Given the description of an element on the screen output the (x, y) to click on. 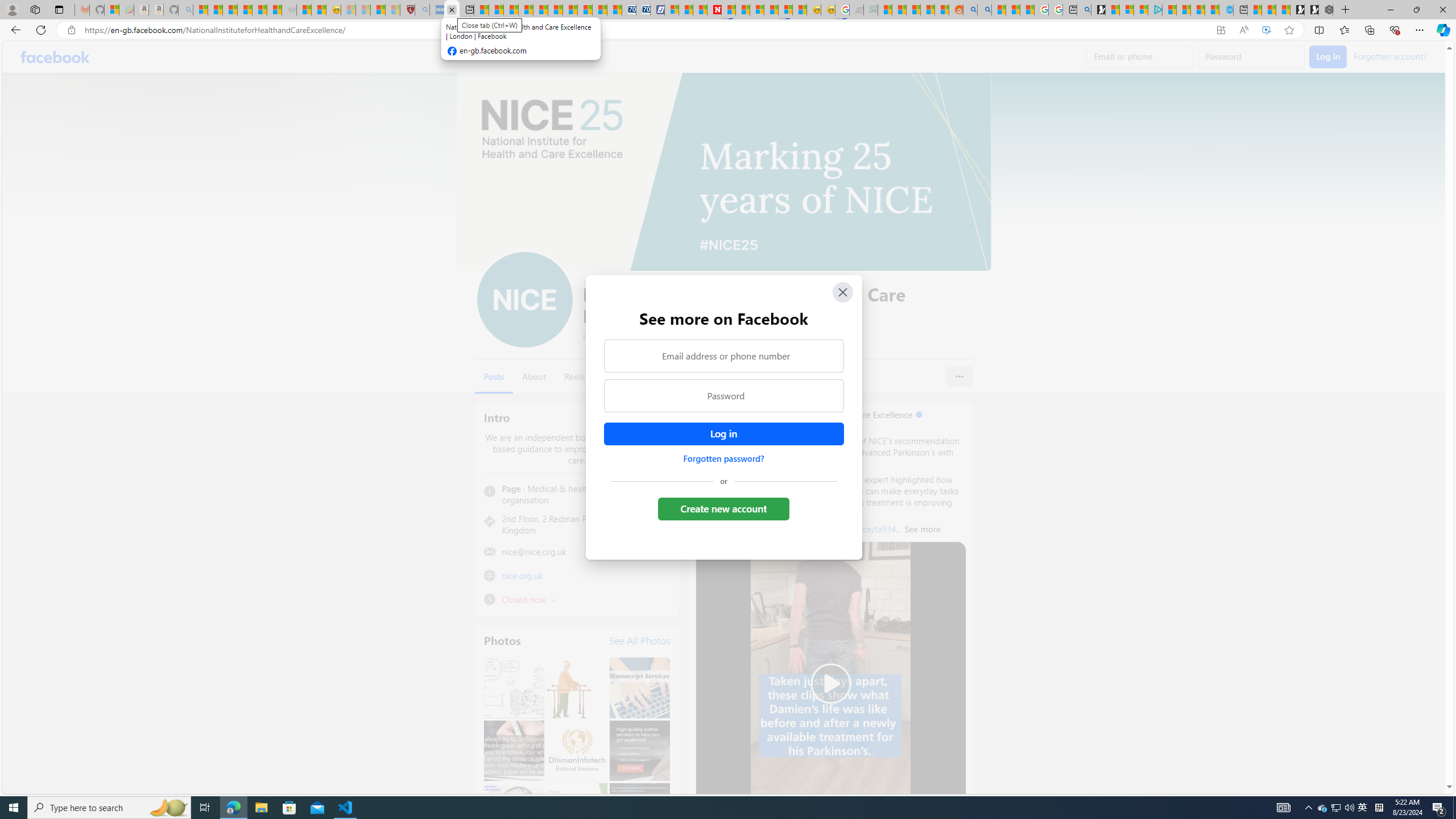
Trusted Community Engagement and Contributions | Guidelines (728, 9)
Create new account (724, 508)
